Given the description of an element on the screen output the (x, y) to click on. 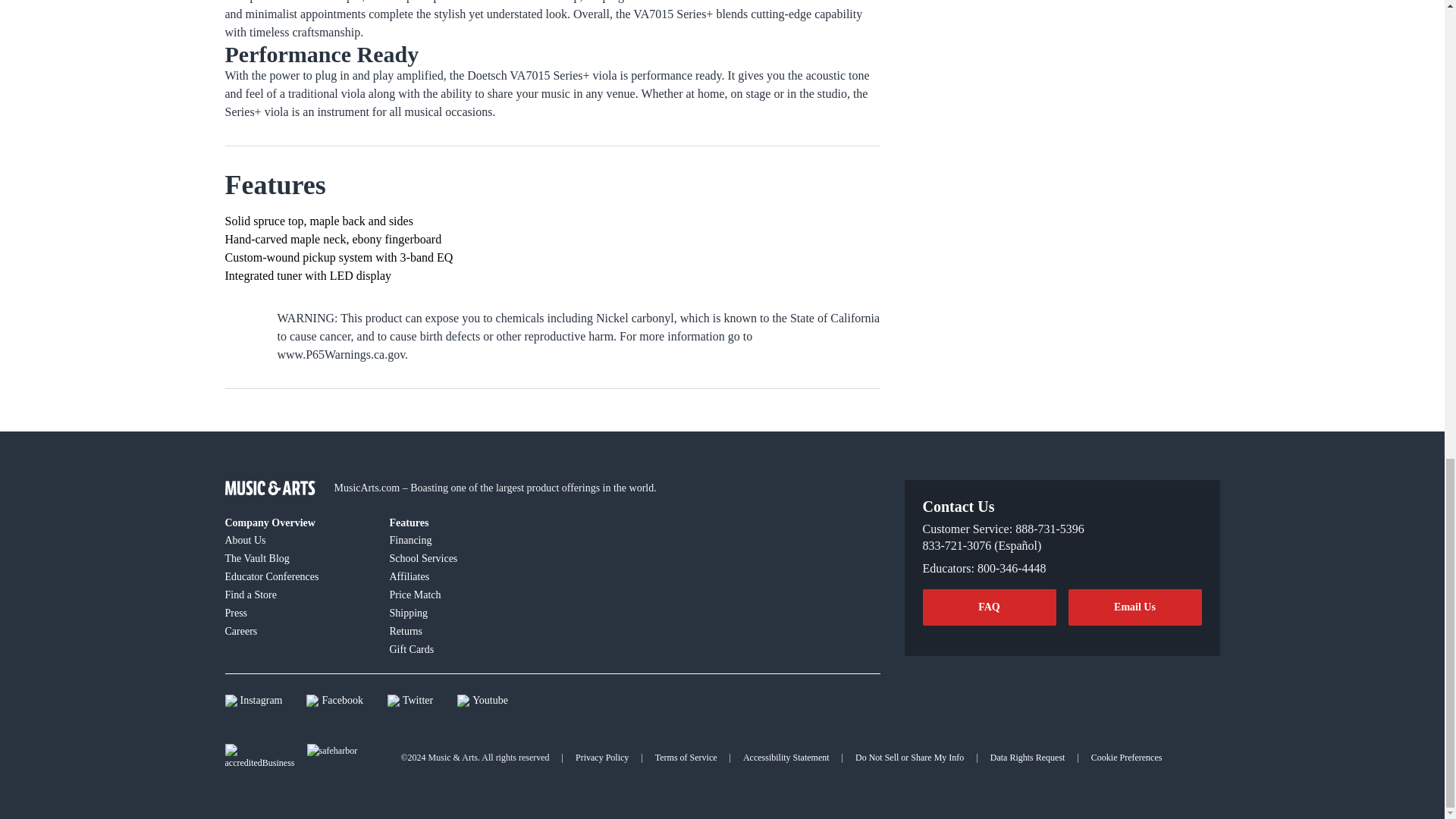
The Vault Blog (297, 557)
Shipping (462, 612)
School Services (462, 557)
Educator Conferences (297, 576)
Financing (462, 539)
Price Match (462, 594)
About Us (297, 539)
Careers (297, 630)
Affiliates (462, 576)
Find a Store (297, 594)
Press (297, 612)
